Given the description of an element on the screen output the (x, y) to click on. 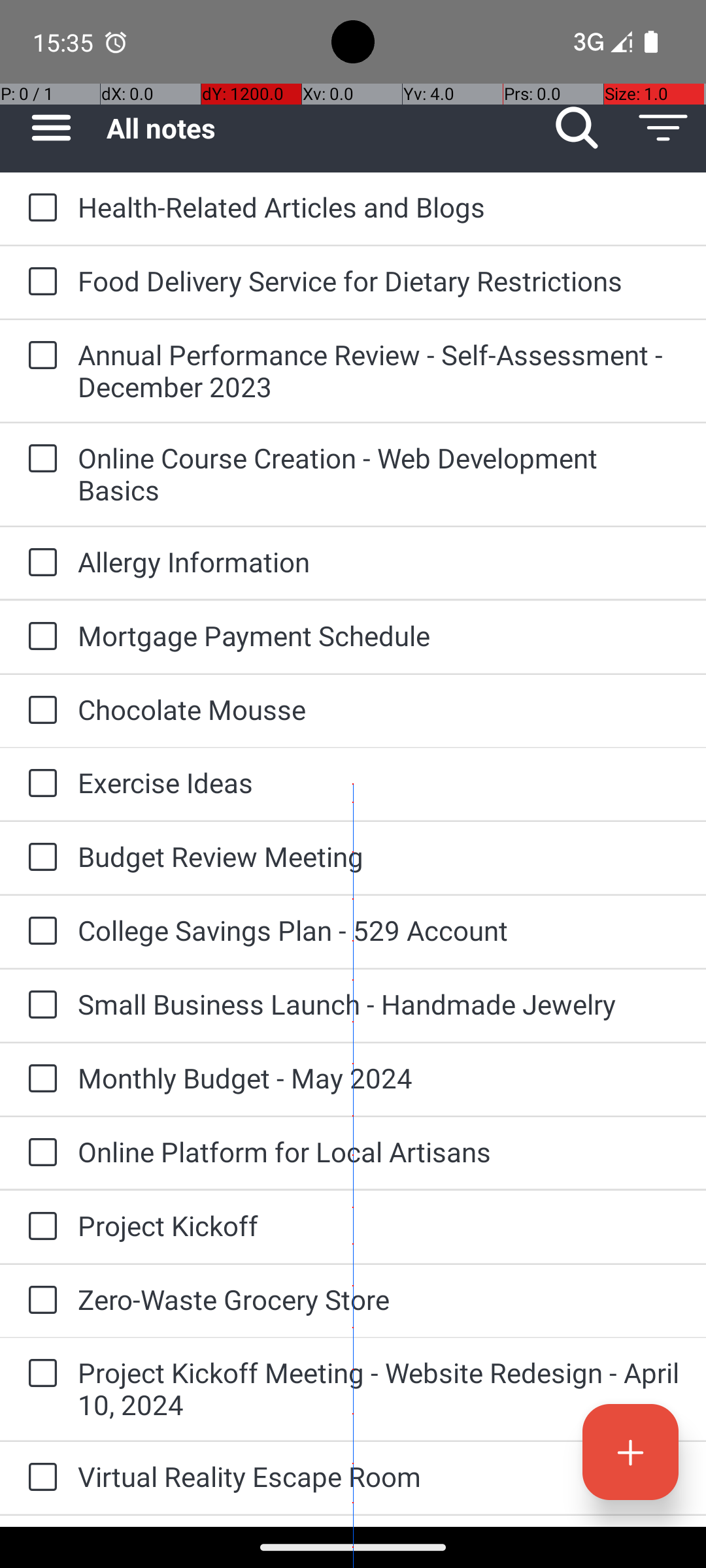
to-do: Health-Related Articles and Blogs Element type: android.widget.CheckBox (38, 208)
Health-Related Articles and Blogs Element type: android.widget.TextView (378, 206)
to-do: Food Delivery Service for Dietary Restrictions Element type: android.widget.CheckBox (38, 282)
Food Delivery Service for Dietary Restrictions Element type: android.widget.TextView (378, 280)
to-do: Allergy Information Element type: android.widget.CheckBox (38, 563)
to-do: Mortgage Payment Schedule Element type: android.widget.CheckBox (38, 637)
Mortgage Payment Schedule Element type: android.widget.TextView (378, 634)
to-do: Chocolate Mousse Element type: android.widget.CheckBox (38, 710)
Chocolate Mousse Element type: android.widget.TextView (378, 708)
to-do: Exercise Ideas Element type: android.widget.CheckBox (38, 783)
to-do: College Savings Plan - 529 Account Element type: android.widget.CheckBox (38, 931)
College Savings Plan - 529 Account Element type: android.widget.TextView (378, 929)
to-do: Small Business Launch - Handmade Jewelry Element type: android.widget.CheckBox (38, 1005)
Small Business Launch - Handmade Jewelry Element type: android.widget.TextView (378, 1003)
to-do: Monthly Budget - May 2024 Element type: android.widget.CheckBox (38, 1079)
Monthly Budget - May 2024 Element type: android.widget.TextView (378, 1077)
to-do: Online Platform for Local Artisans Element type: android.widget.CheckBox (38, 1153)
Online Platform for Local Artisans Element type: android.widget.TextView (378, 1151)
to-do: Project Kickoff Element type: android.widget.CheckBox (38, 1227)
Project Kickoff Element type: android.widget.TextView (378, 1224)
to-do: Zero-Waste Grocery Store Element type: android.widget.CheckBox (38, 1300)
Zero-Waste Grocery Store Element type: android.widget.TextView (378, 1298)
to-do: Project Kickoff Meeting - Website Redesign - April 10, 2024 Element type: android.widget.CheckBox (38, 1373)
Project Kickoff Meeting - Website Redesign - April 10, 2024 Element type: android.widget.TextView (378, 1387)
to-do: Virtual Reality Escape Room Element type: android.widget.CheckBox (38, 1477)
Virtual Reality Escape Room Element type: android.widget.TextView (378, 1475)
to-do: Team Meeting - May 6, 2024 Element type: android.widget.CheckBox (38, 1520)
